Given the description of an element on the screen output the (x, y) to click on. 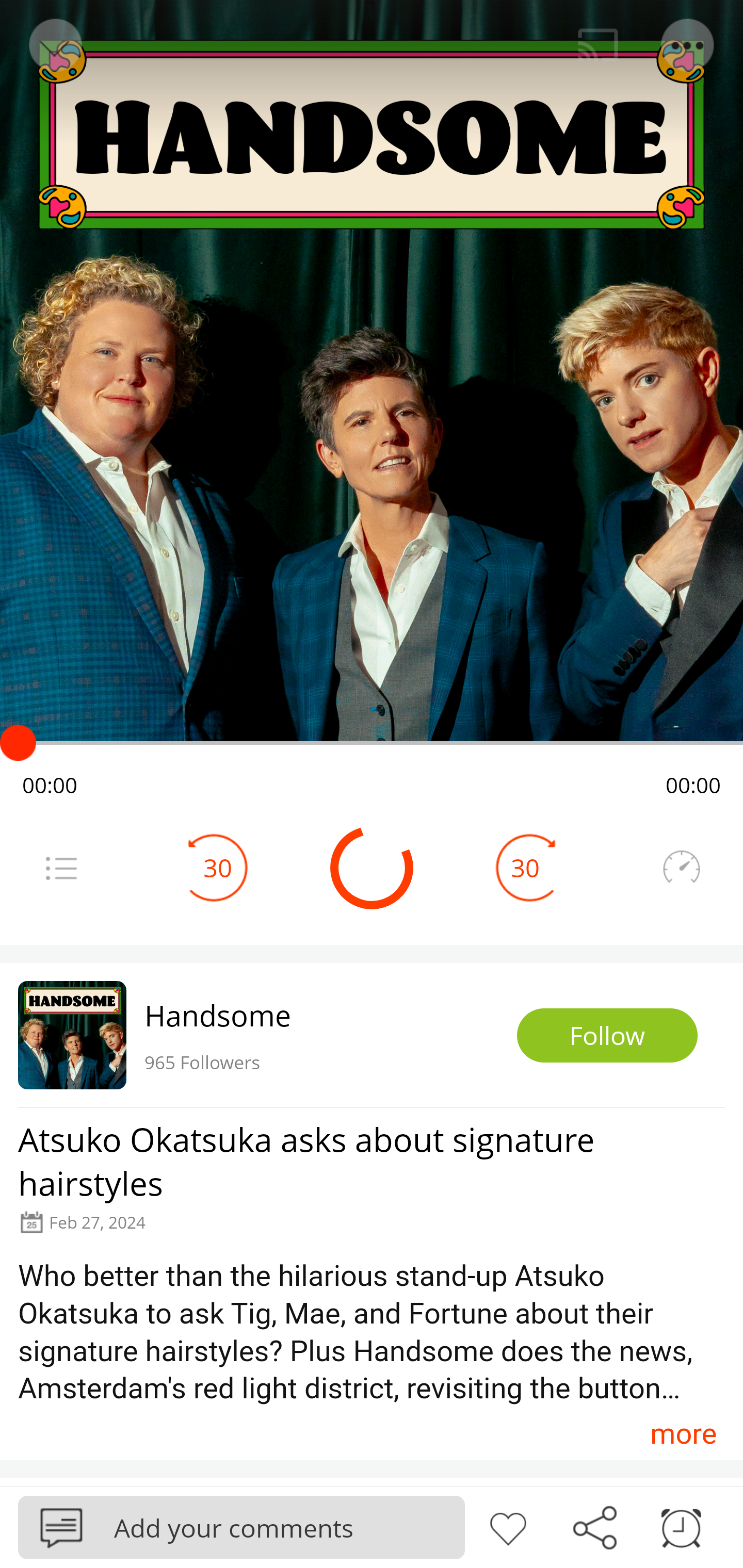
Back (53, 45)
Cast. Disconnected (597, 45)
Menu (688, 45)
30 Seek Backward (217, 867)
30 Seek Forward (525, 867)
Menu (60, 867)
Speedometer (681, 867)
Handsome 965 Followers Follow (371, 1034)
Follow (607, 1035)
more (682, 1432)
Like (508, 1526)
Share (594, 1526)
Sleep timer (681, 1526)
Podbean Add your comments (241, 1526)
